Given the description of an element on the screen output the (x, y) to click on. 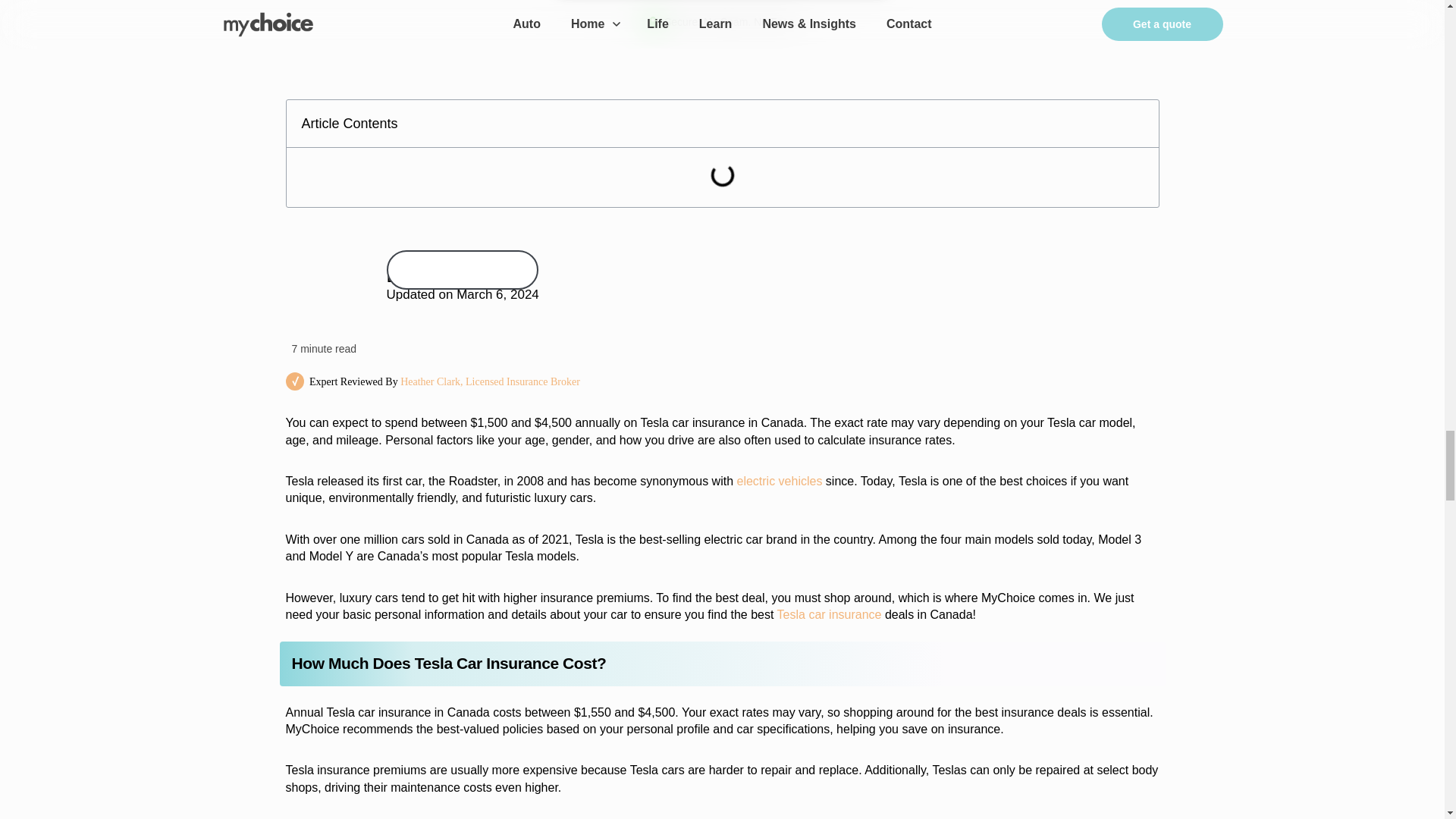
Heather Clark, Licensed Insurance Broker (489, 381)
electric vehicles (779, 481)
Visit author page (462, 269)
Tesla car insurance (829, 614)
